Given the description of an element on the screen output the (x, y) to click on. 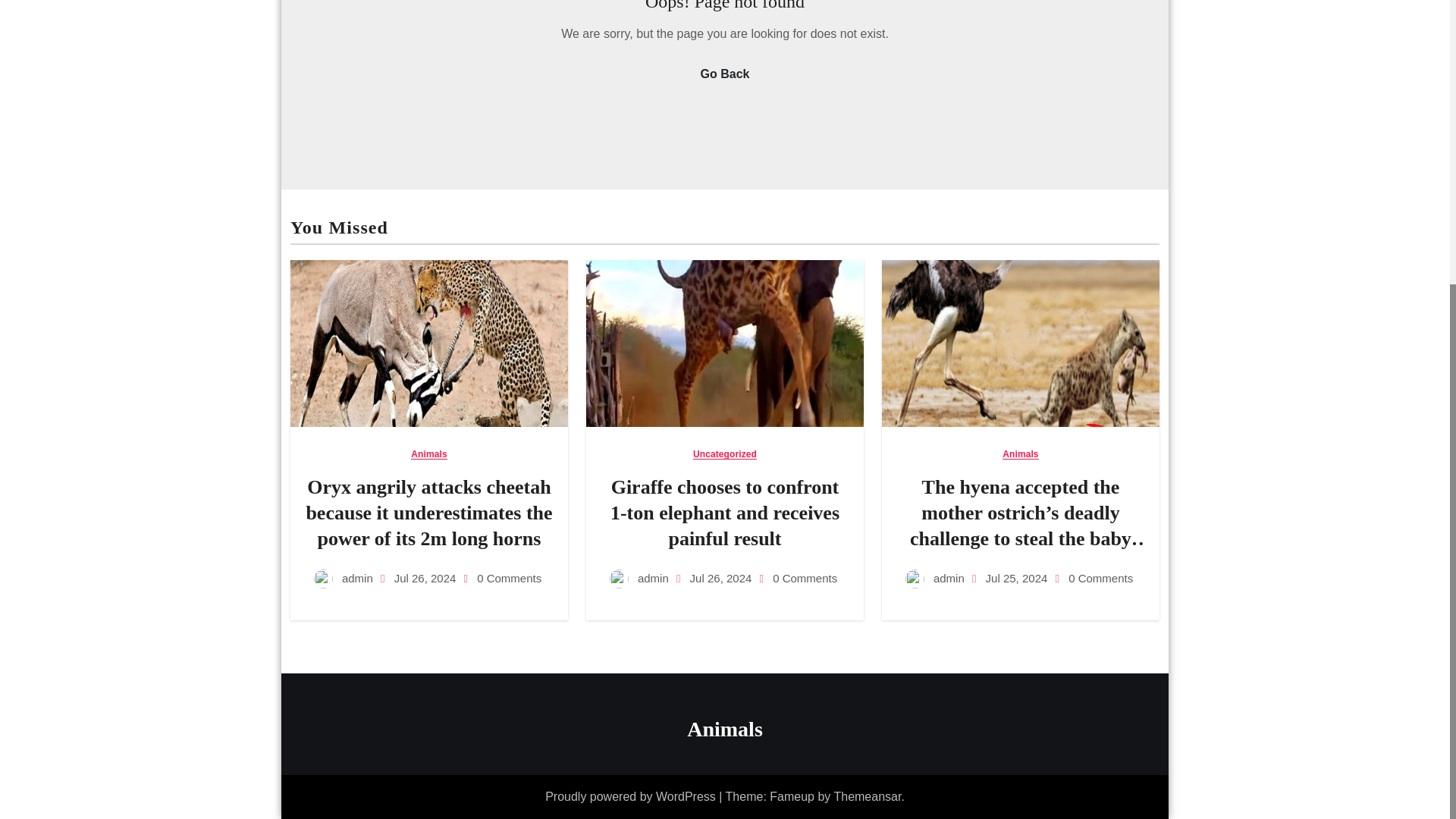
Uncategorized (725, 454)
Animals (428, 454)
Proudly powered by WordPress (631, 796)
Jul 25, 2024 (1018, 577)
0 Comments (805, 577)
0 Comments (1100, 577)
admin (639, 577)
Jul 26, 2024 (722, 577)
Go Back (725, 73)
Animals (1020, 454)
admin (344, 577)
Animals (724, 729)
Jul 26, 2024 (427, 577)
